Given the description of an element on the screen output the (x, y) to click on. 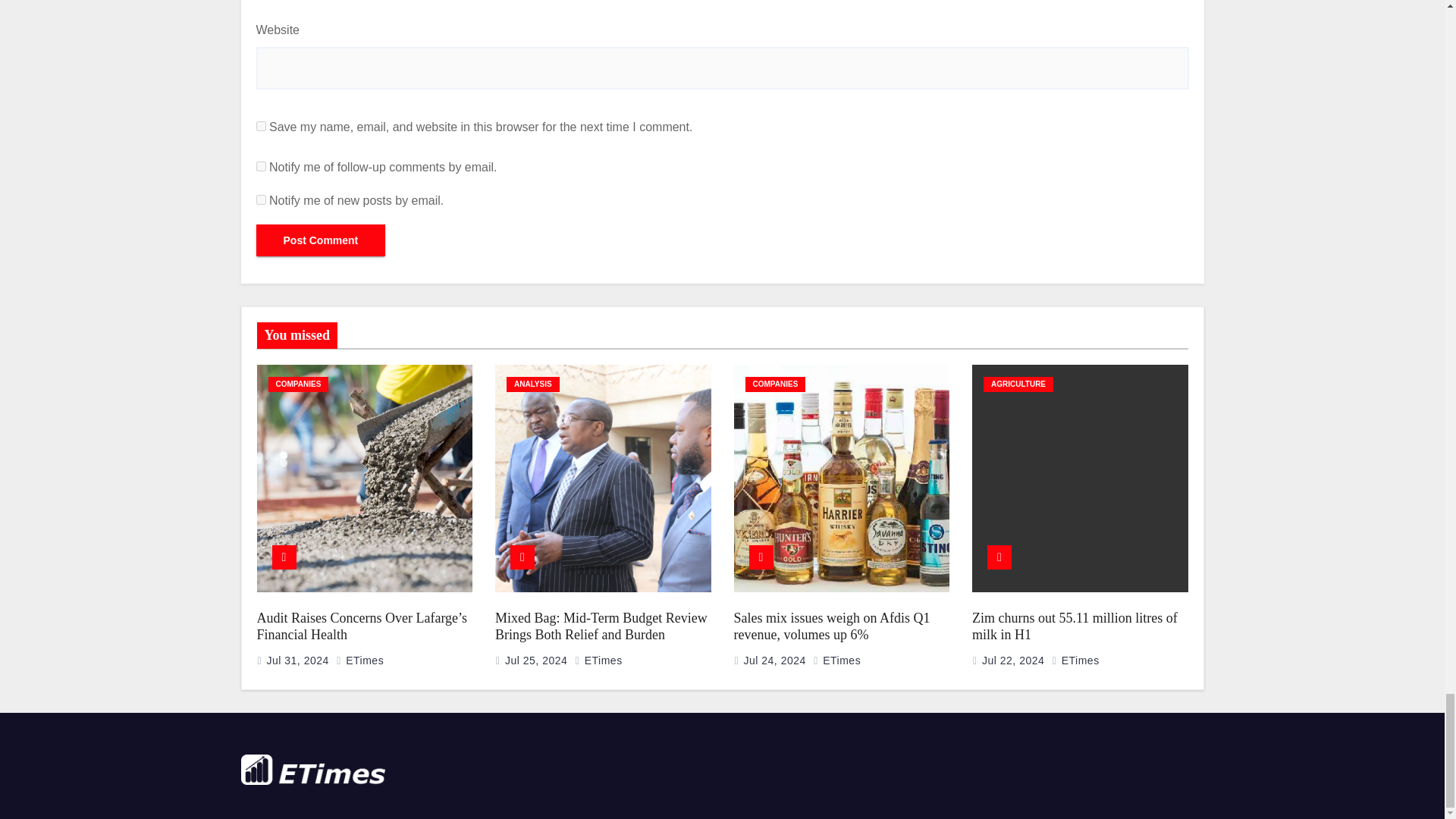
subscribe (261, 166)
Post Comment (320, 240)
yes (261, 126)
subscribe (261, 199)
